Given the description of an element on the screen output the (x, y) to click on. 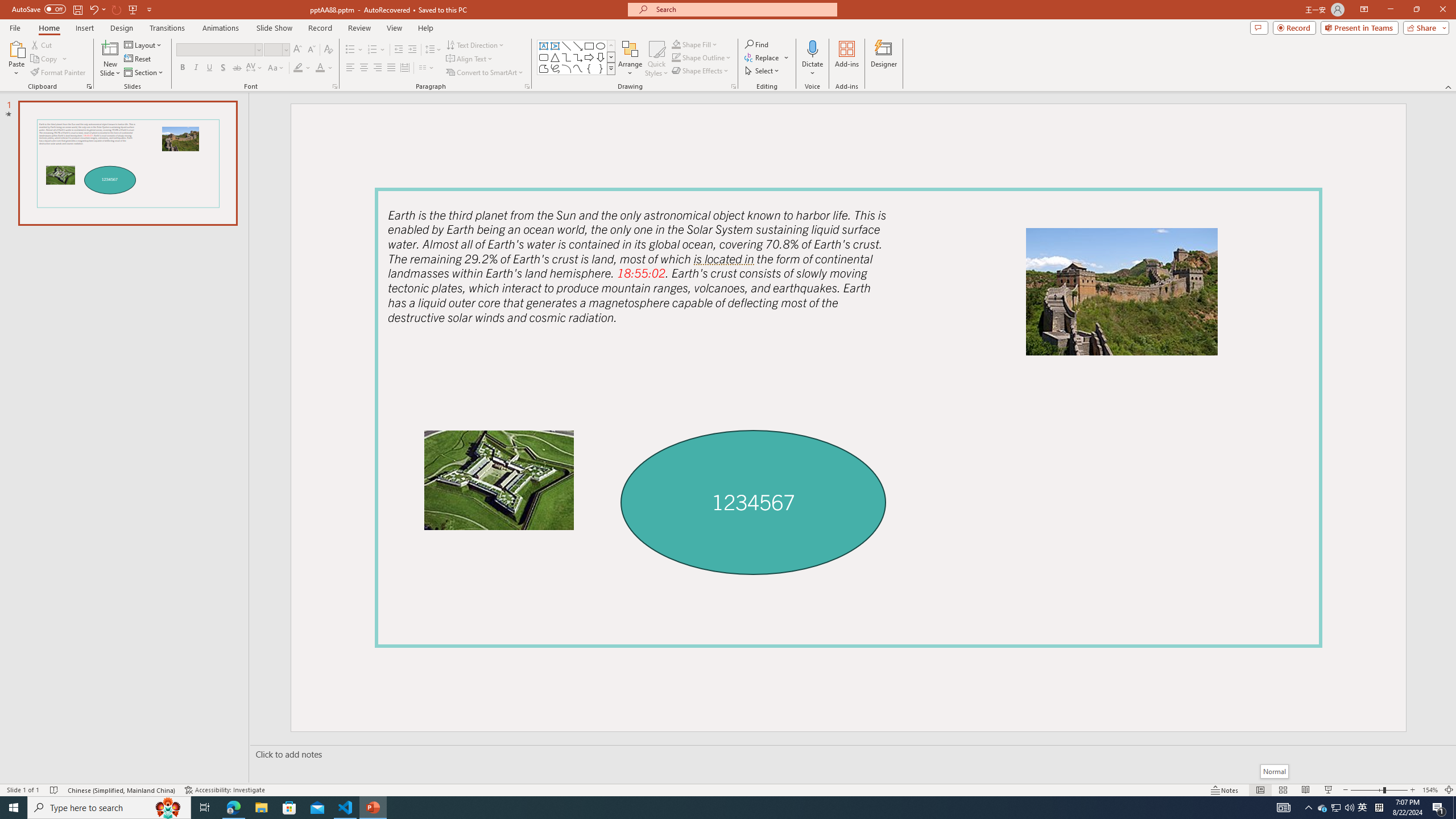
Reset (138, 58)
Paragraph... (526, 85)
Align Right (377, 67)
Find... (756, 44)
Center (363, 67)
